Given the description of an element on the screen output the (x, y) to click on. 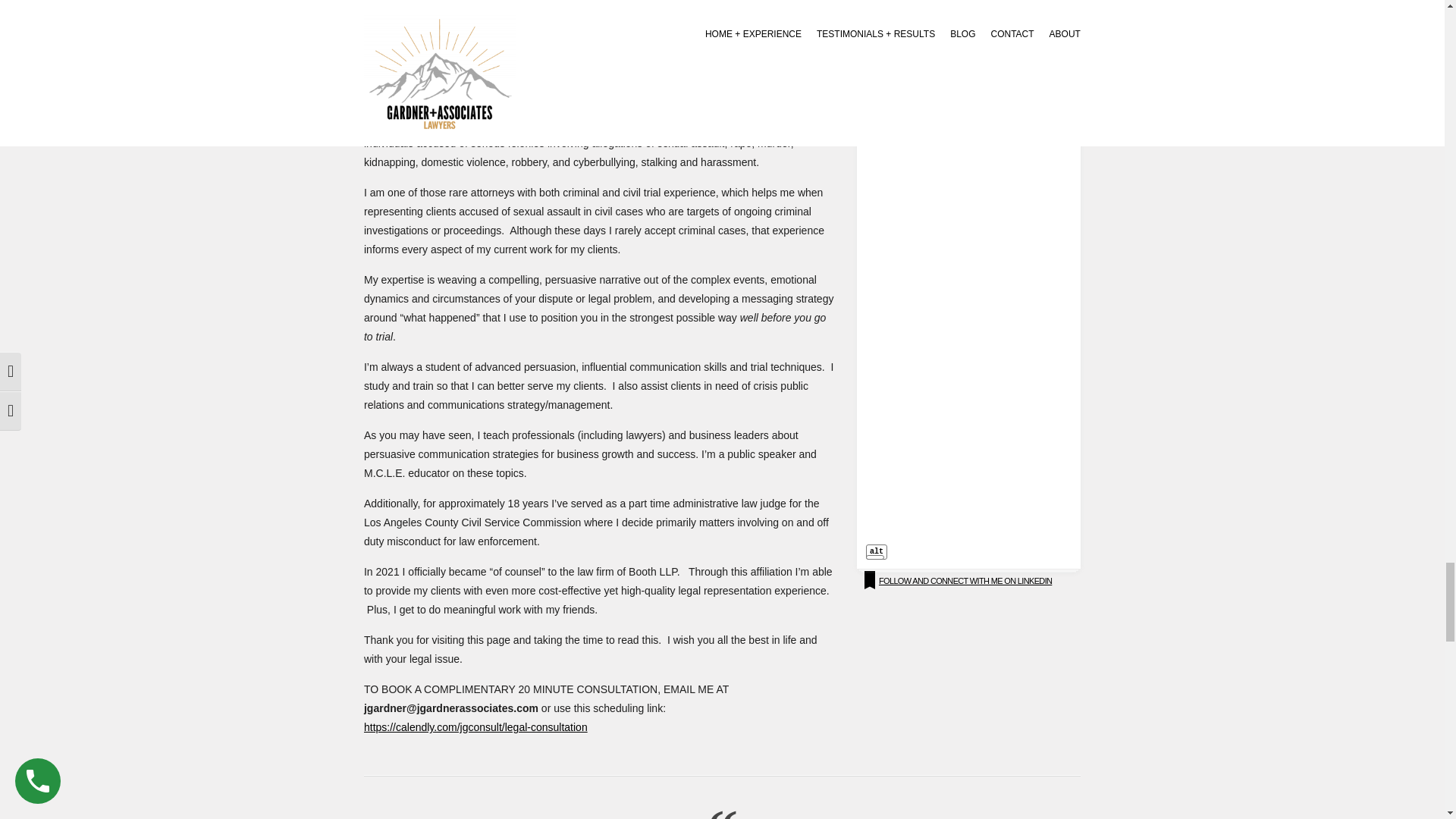
Long Description (874, 557)
alt (876, 551)
FOLLOW AND CONNECT WITH ME ON LINKEDIN (965, 581)
